Given the description of an element on the screen output the (x, y) to click on. 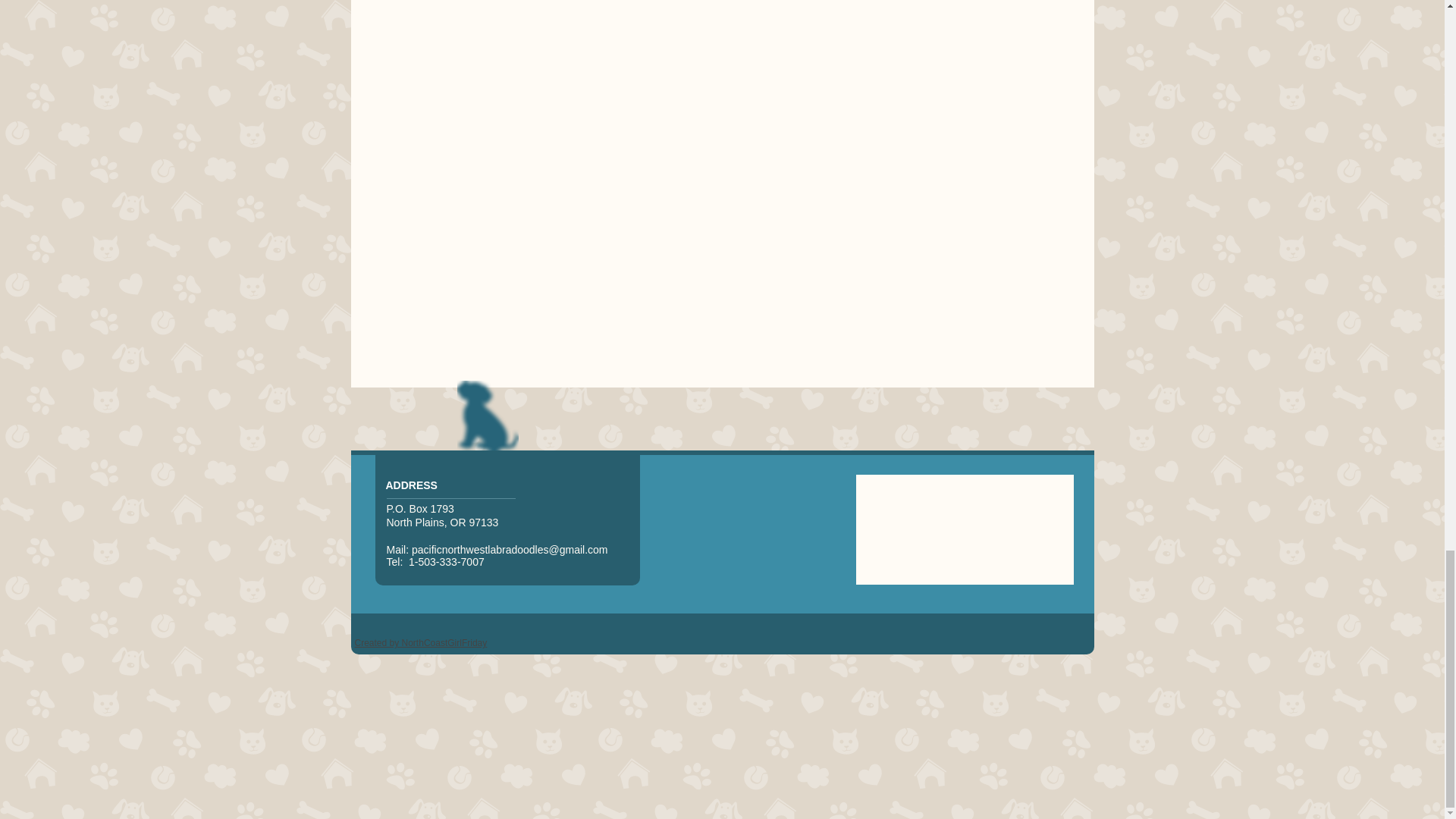
Created by NorthCoastGirlFriday (421, 643)
abradoodles (518, 549)
Google Maps (965, 529)
